Given the description of an element on the screen output the (x, y) to click on. 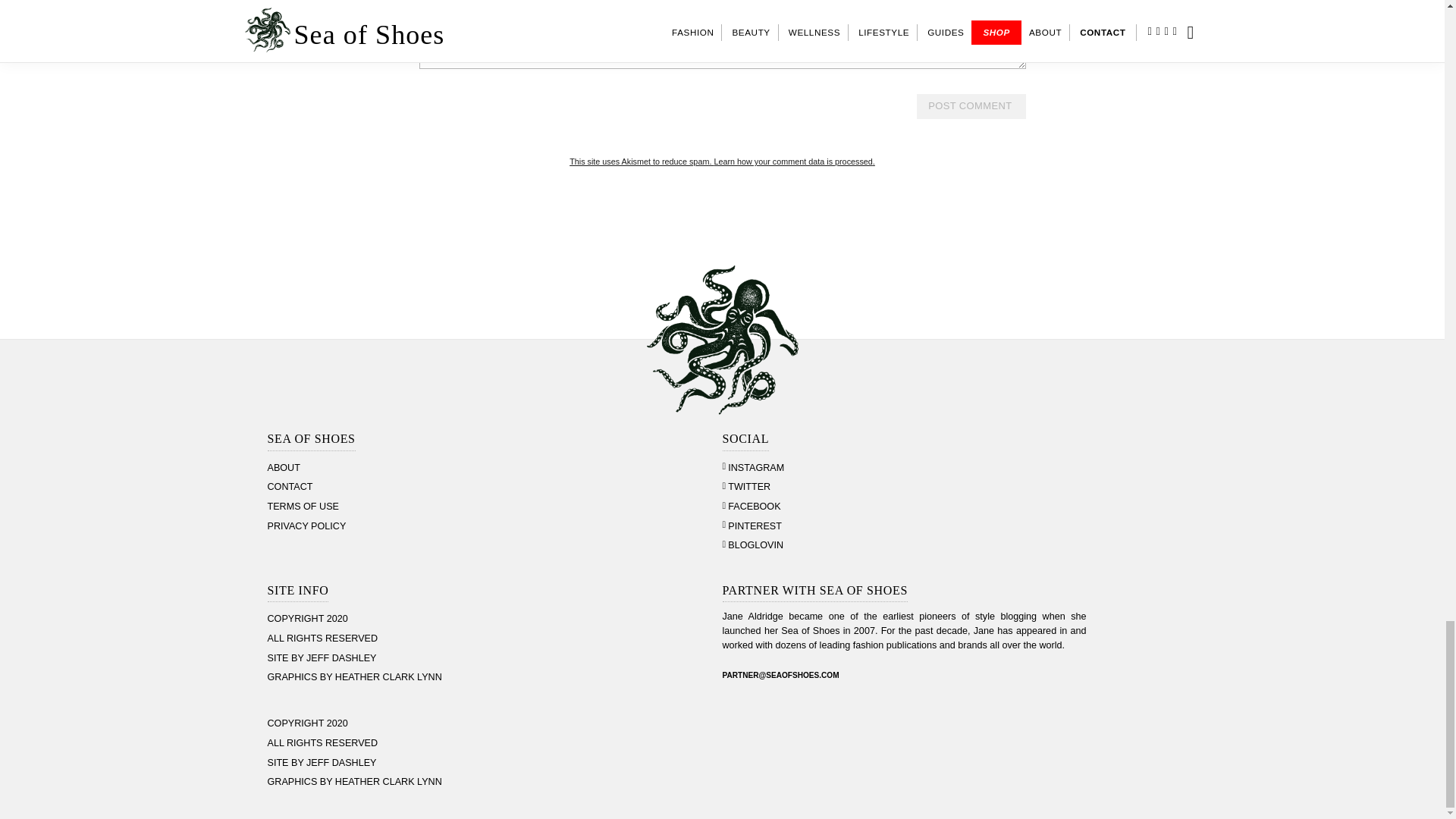
Post Comment (971, 106)
